Given the description of an element on the screen output the (x, y) to click on. 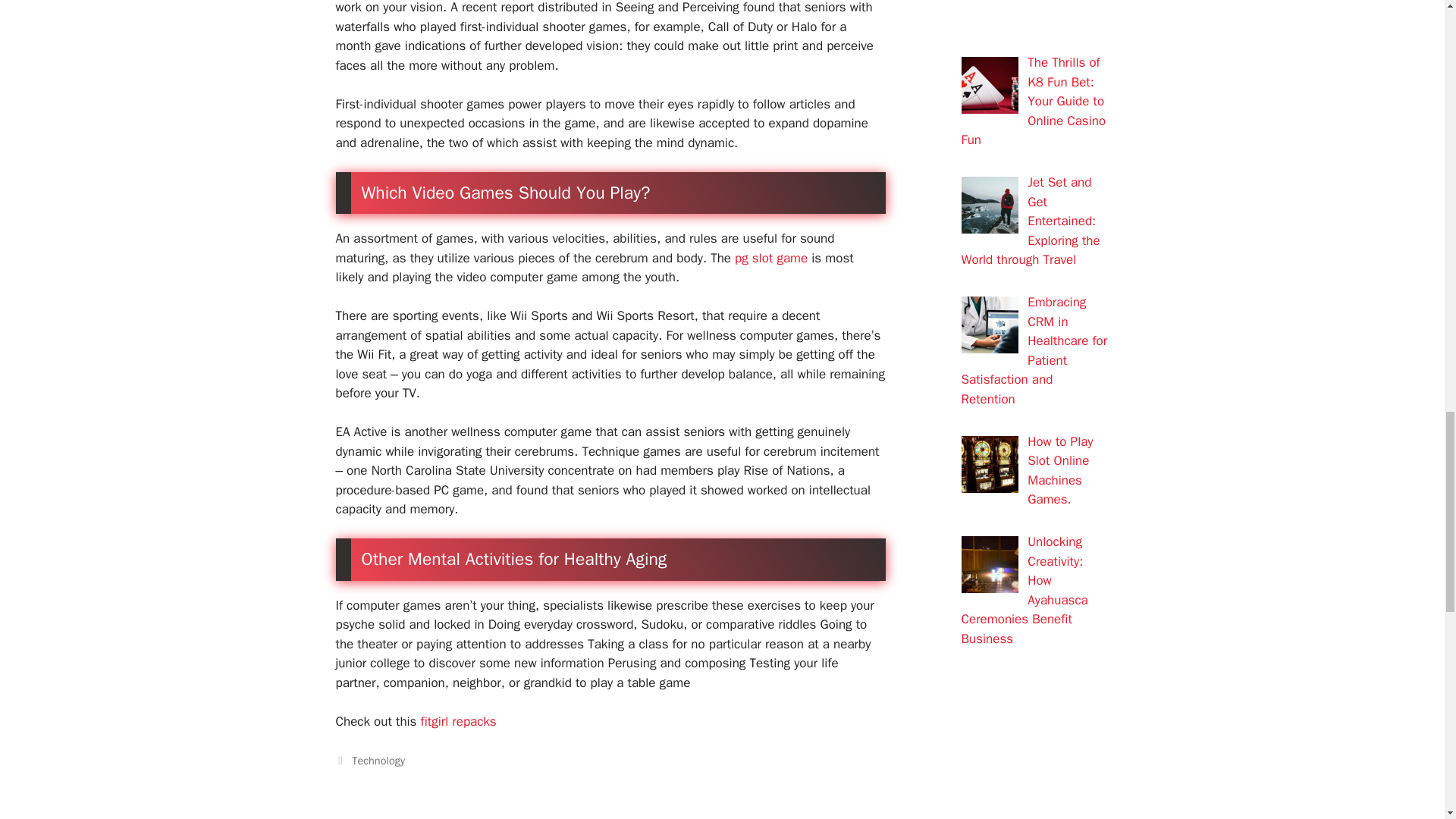
pg slot game (771, 258)
fitgirl repacks (458, 721)
Technology (378, 760)
